Given the description of an element on the screen output the (x, y) to click on. 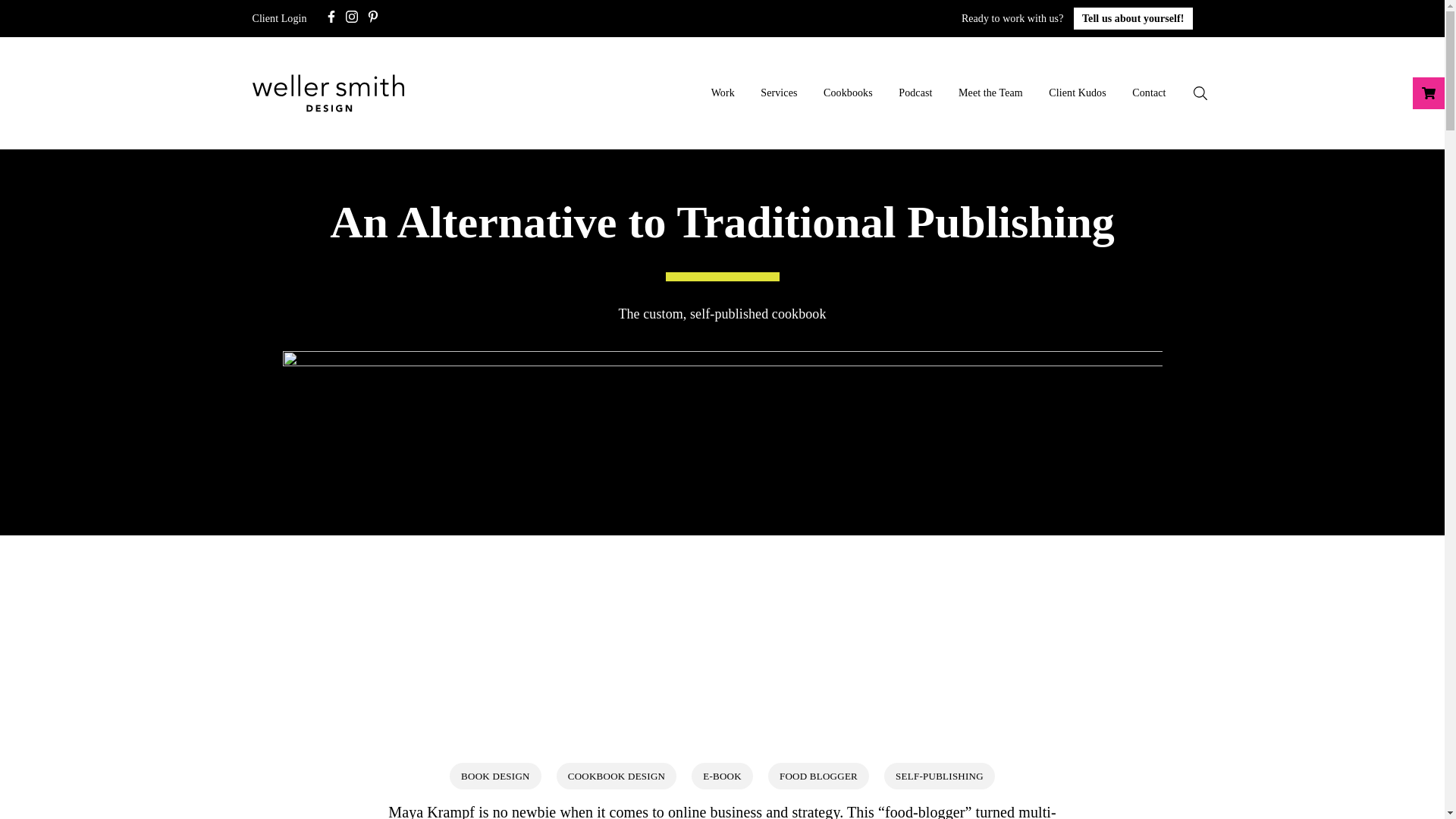
Services (778, 92)
Facebook (330, 18)
Instagram (1398, 279)
Client Login (278, 18)
Pinterest (372, 16)
Search (1199, 92)
Instagram (351, 18)
Facebook (330, 16)
Pinterest (372, 18)
Instagram (352, 16)
Tell us about yourself! (1133, 18)
Facebook (1398, 255)
